Given the description of an element on the screen output the (x, y) to click on. 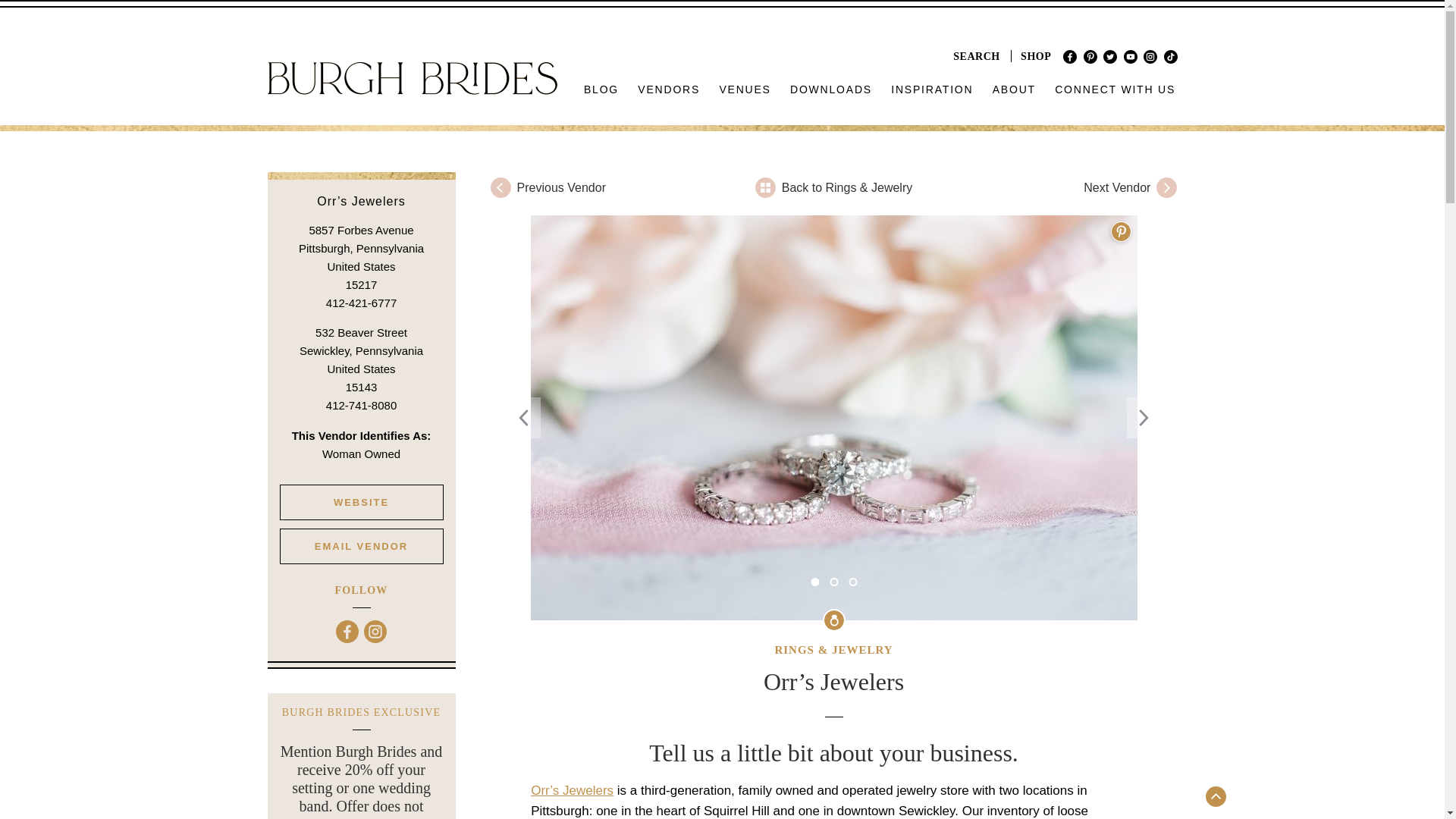
BLOG (601, 89)
VENDORS (668, 89)
VENUES (745, 89)
Youtube (1130, 56)
SHOP (1035, 56)
SEARCH (976, 56)
DOWNLOADS (832, 89)
ABOUT (1013, 89)
Instagram (1149, 56)
Facebook (1069, 56)
TikTok (1169, 56)
INSPIRATION (932, 89)
Previous Vendor (604, 187)
Pinterest (1090, 56)
CONNECT WITH US (1114, 89)
